Given the description of an element on the screen output the (x, y) to click on. 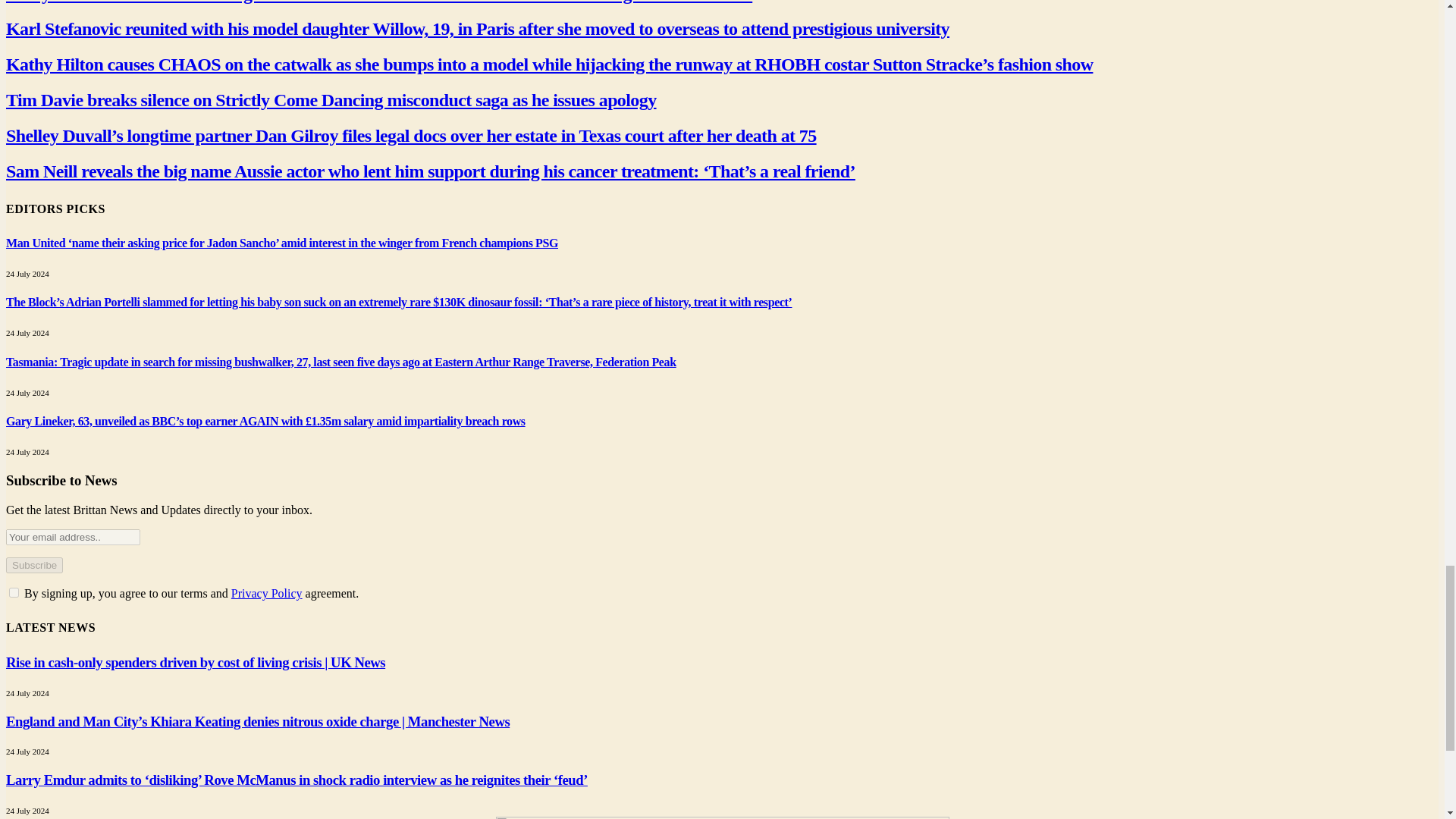
on (13, 592)
Subscribe (33, 565)
